Given the description of an element on the screen output the (x, y) to click on. 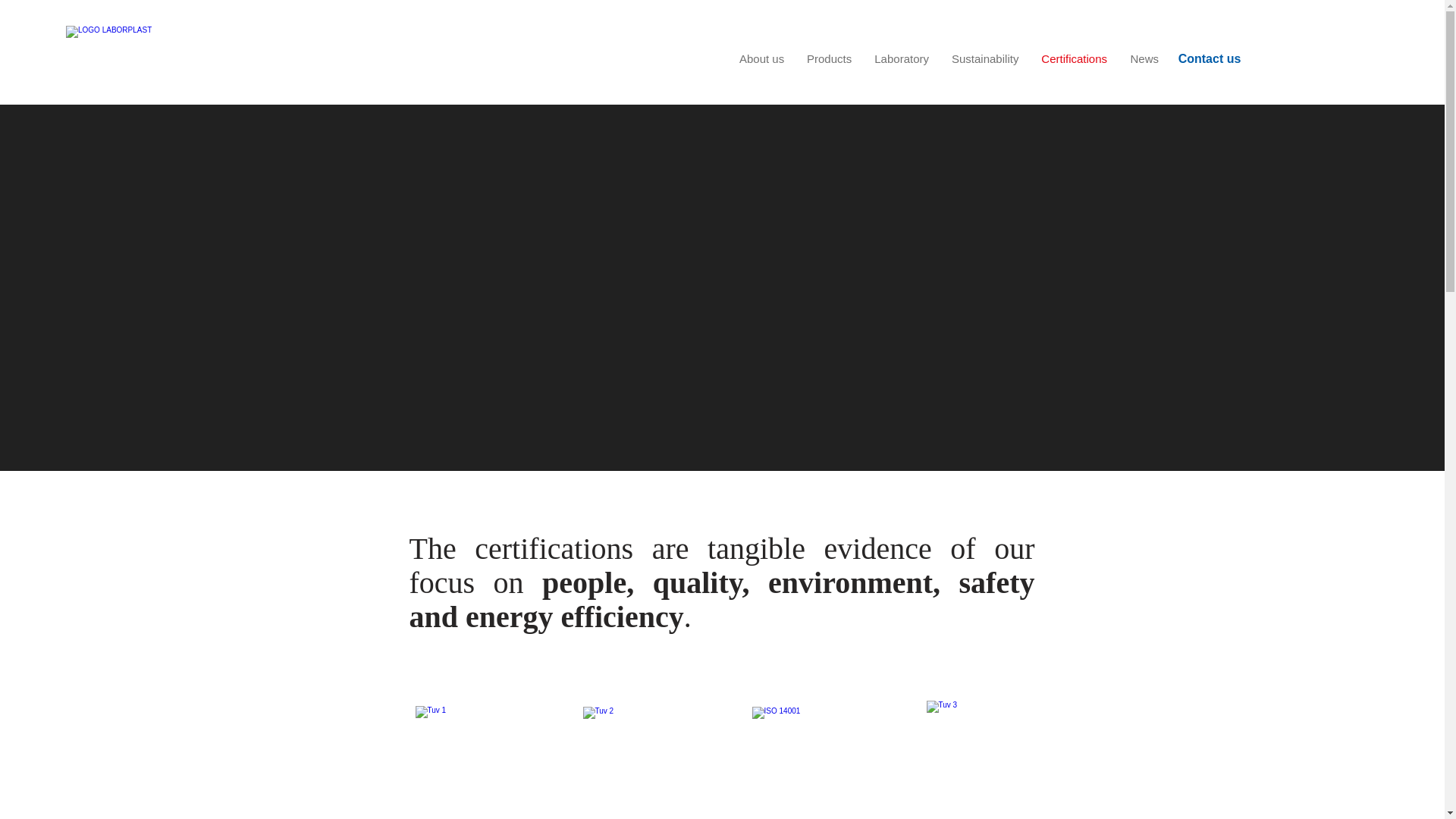
News (1144, 58)
ISO 45001.jpg (653, 743)
Products (828, 58)
Contact us (1209, 59)
About us (761, 58)
Laboratory (901, 58)
ISO 14001.png (823, 743)
Sustainability (984, 58)
Certifications (1073, 58)
ISO 14001.png (485, 742)
